Given the description of an element on the screen output the (x, y) to click on. 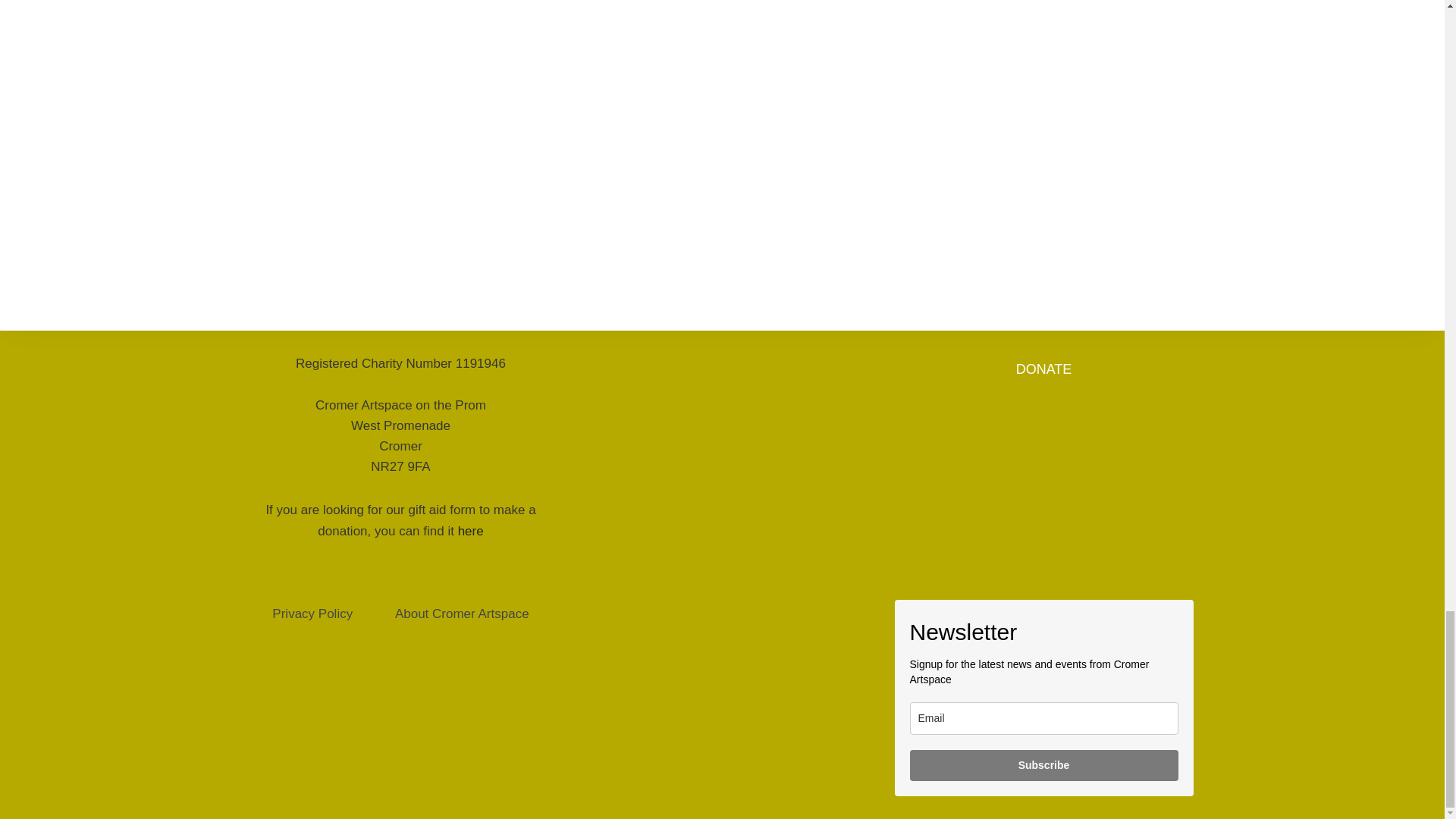
here (470, 531)
